Given the description of an element on the screen output the (x, y) to click on. 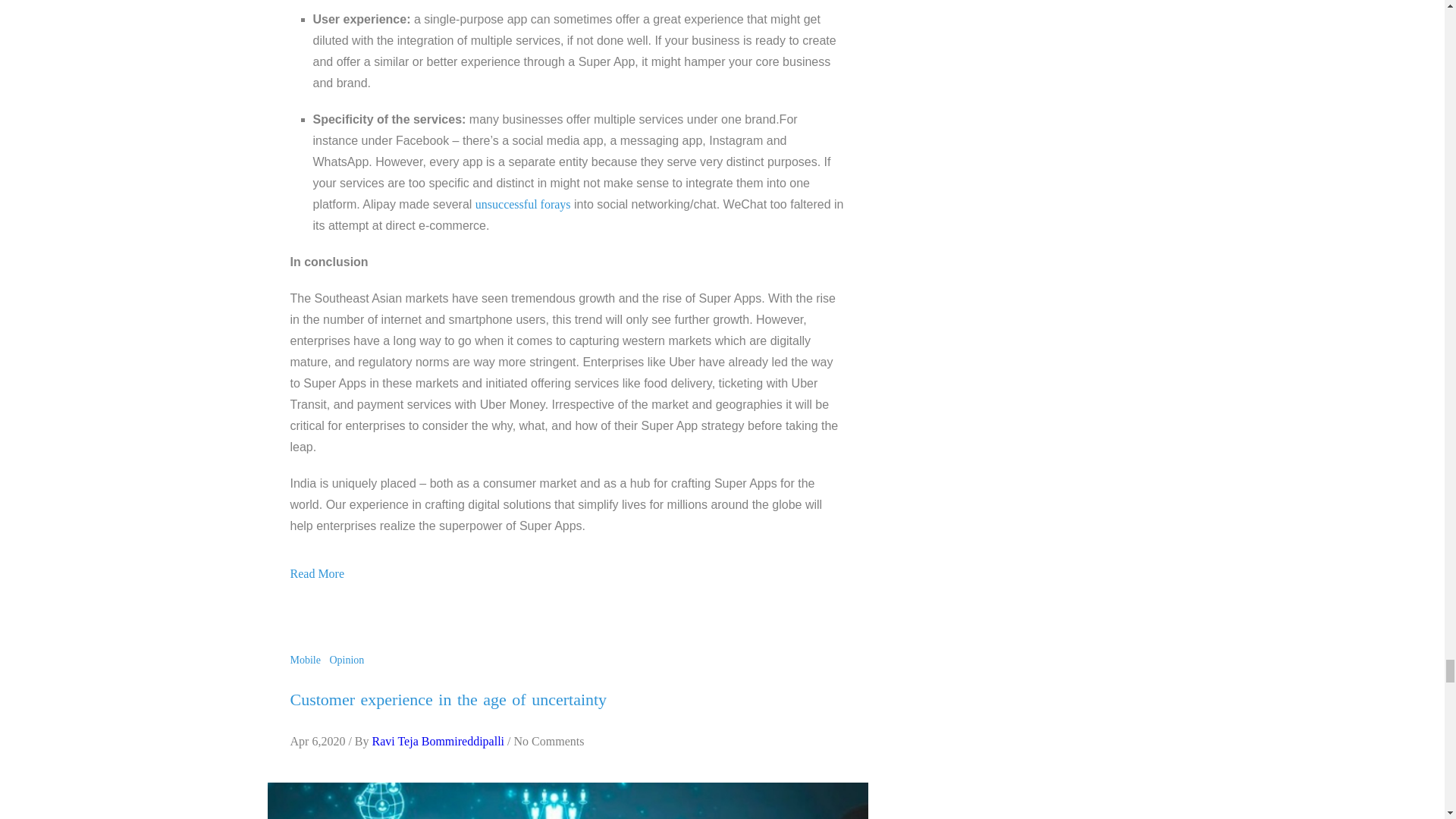
Posts by Ravi Teja Bommireddipalli (437, 740)
